Given the description of an element on the screen output the (x, y) to click on. 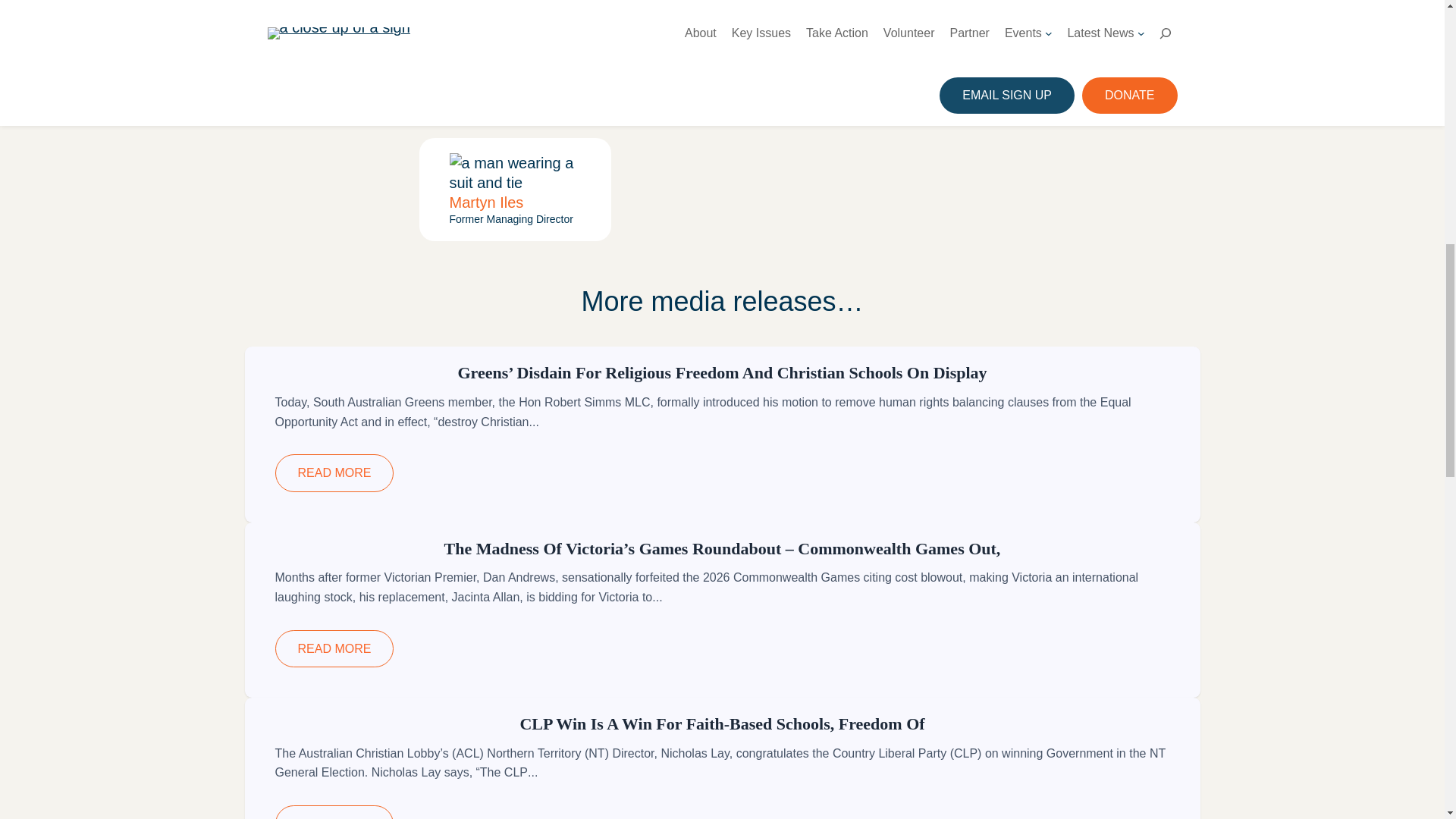
READ MORE (334, 472)
Martyn Iles (485, 202)
READ MORE (334, 648)
CLP win is a win for faith-based schools, freedom of (721, 723)
READ MORE (334, 812)
CLP Win Is A Win For Faith-Based Schools, Freedom Of (721, 723)
